Given the description of an element on the screen output the (x, y) to click on. 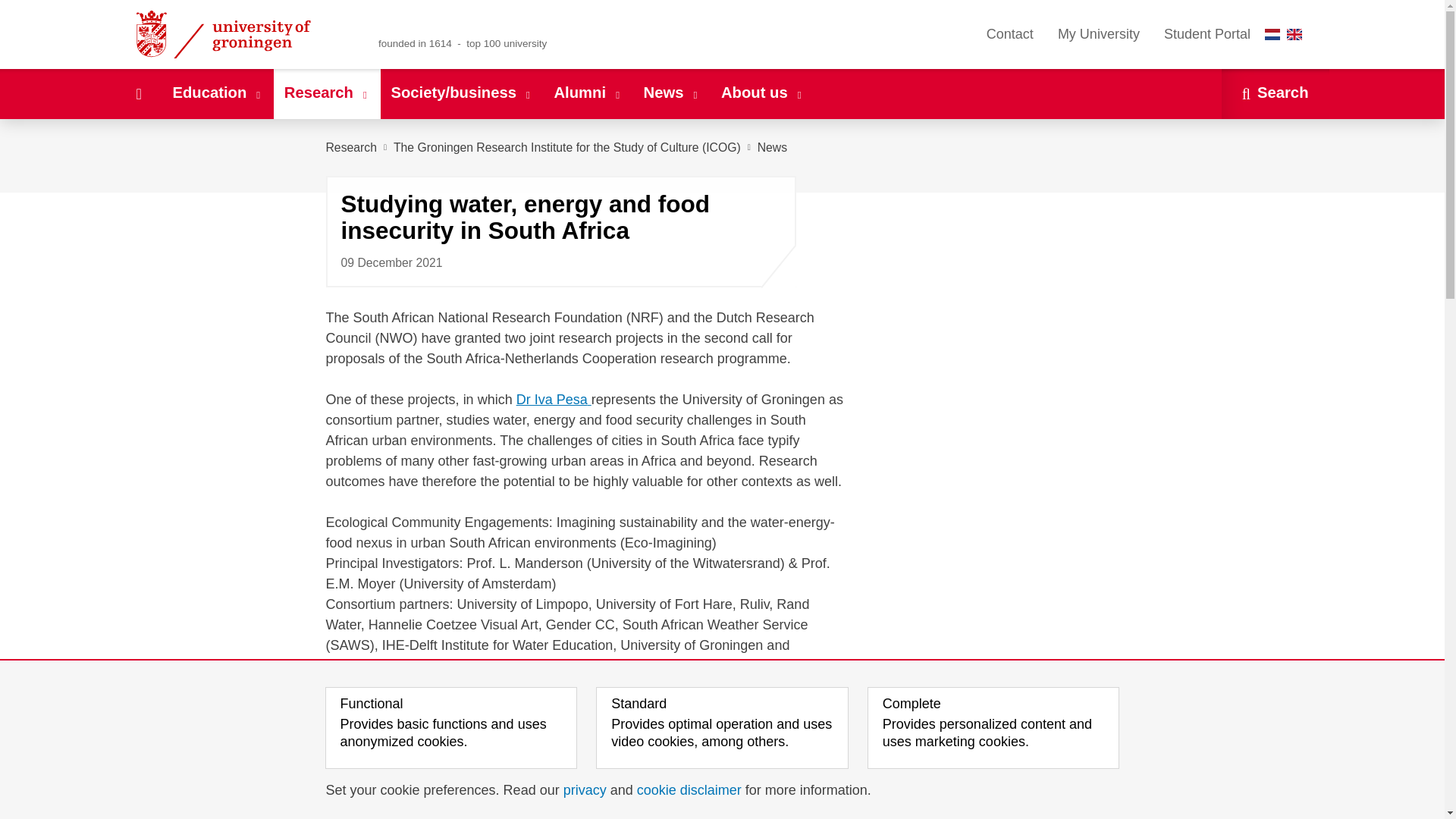
Student Portal (1206, 34)
Nederlands (1272, 33)
Contact (1009, 34)
University of Groningen (241, 34)
English (1293, 33)
Home (138, 93)
Language select (1286, 34)
My University (1098, 34)
Education (217, 93)
